Given the description of an element on the screen output the (x, y) to click on. 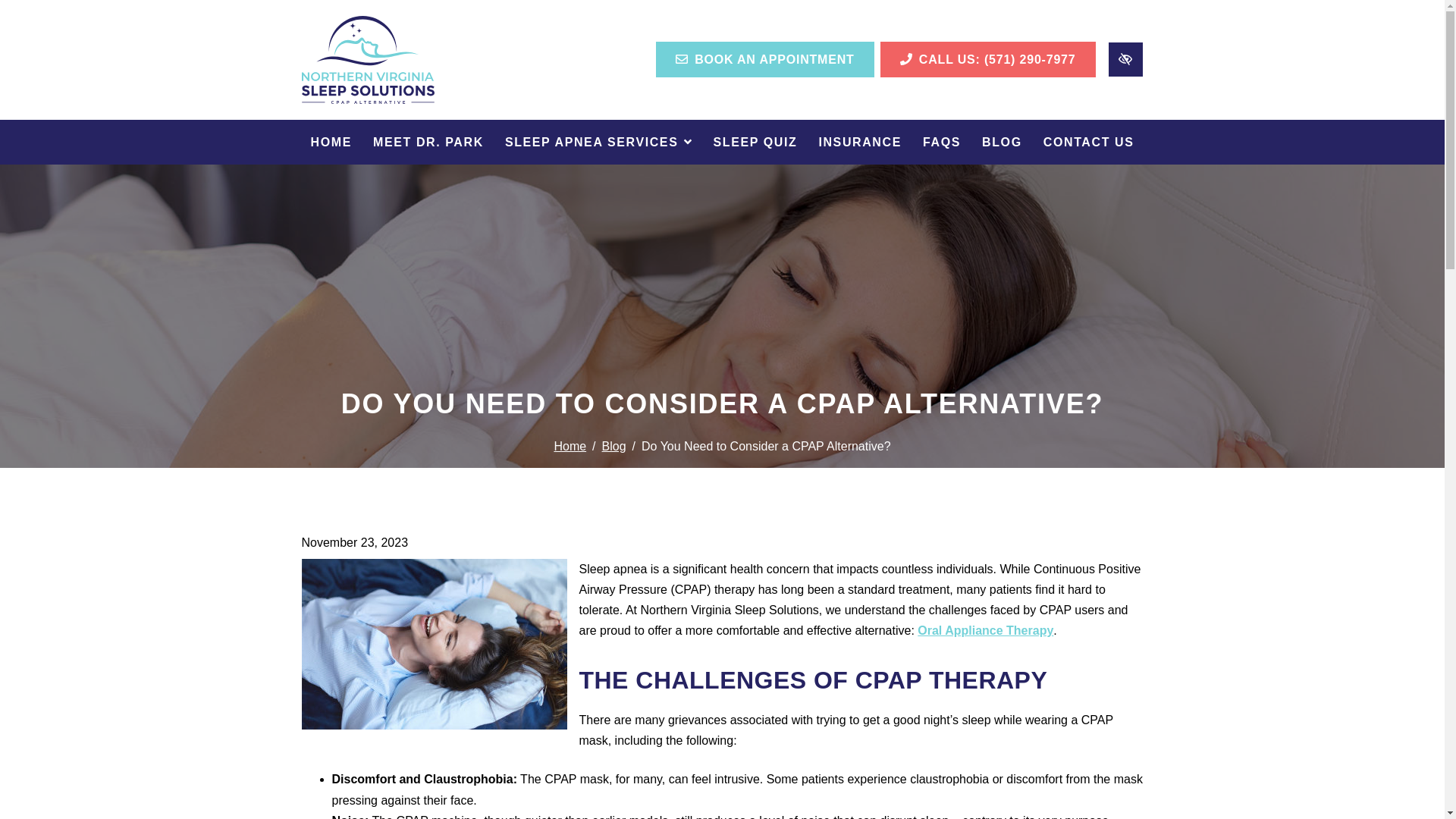
MEET DR. PARK (427, 141)
INSURANCE (859, 141)
Oral Appliance Therapy (984, 630)
SLEEP APNEA SERVICES (599, 141)
BOOK AN APPOINTMENT (765, 58)
Home (569, 445)
FAQS (941, 141)
HOME (331, 141)
SLEEP QUIZ (754, 141)
CONTACT US (1088, 141)
SKIP TO MAIN CONTENT (19, 8)
BLOG (1001, 141)
Blog (614, 445)
